Given the description of an element on the screen output the (x, y) to click on. 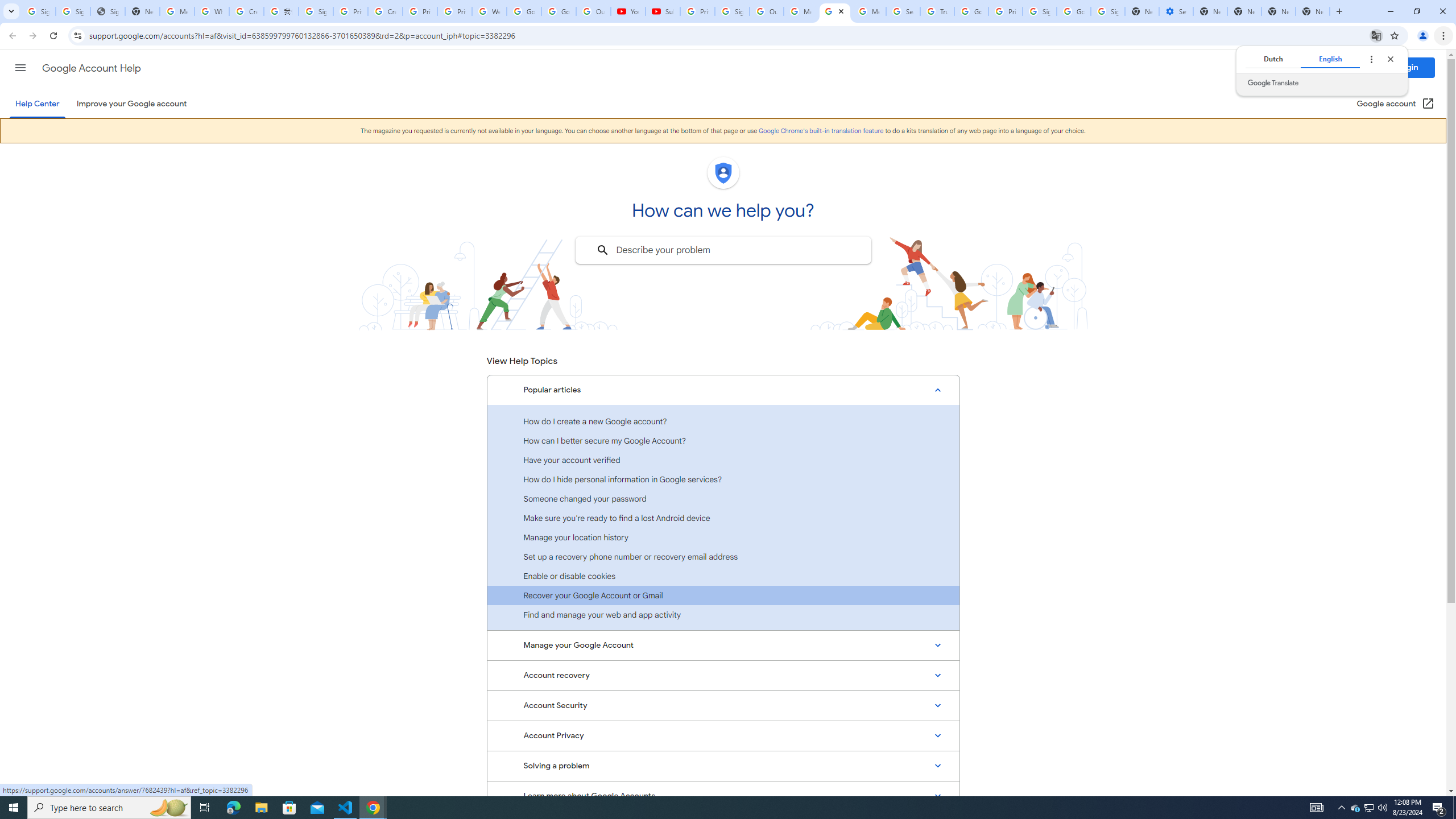
Google Account (Opens in new window) (1395, 103)
How do I hide personal information in Google services? (722, 479)
Sign In - USA TODAY (107, 11)
New Tab (1278, 11)
Google Chrome's built-in translation feature (820, 130)
Help Center (36, 103)
New Tab (1209, 11)
Enable or disable cookies (722, 575)
To search (601, 249)
Sign in - Google Accounts (1107, 11)
